Given the description of an element on the screen output the (x, y) to click on. 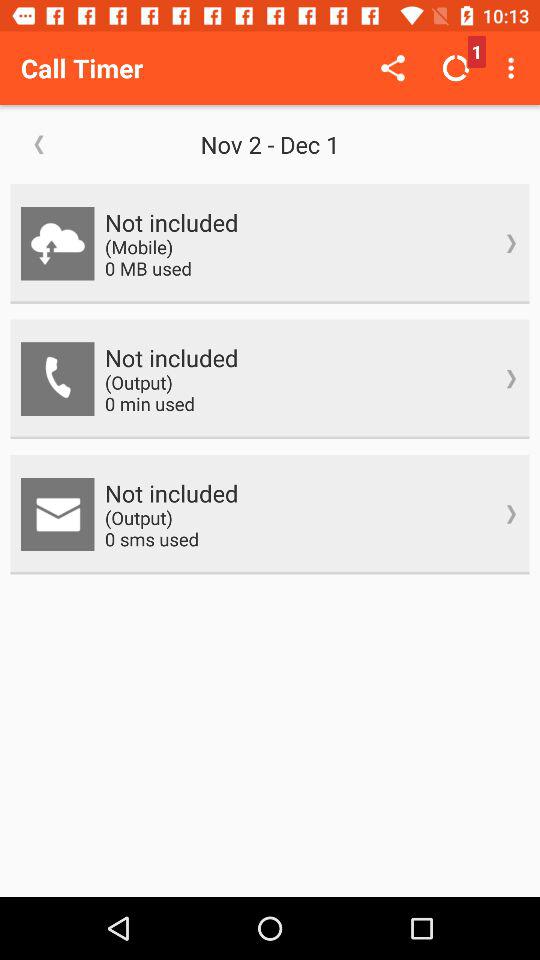
swipe until the nov 2 dec (269, 144)
